Given the description of an element on the screen output the (x, y) to click on. 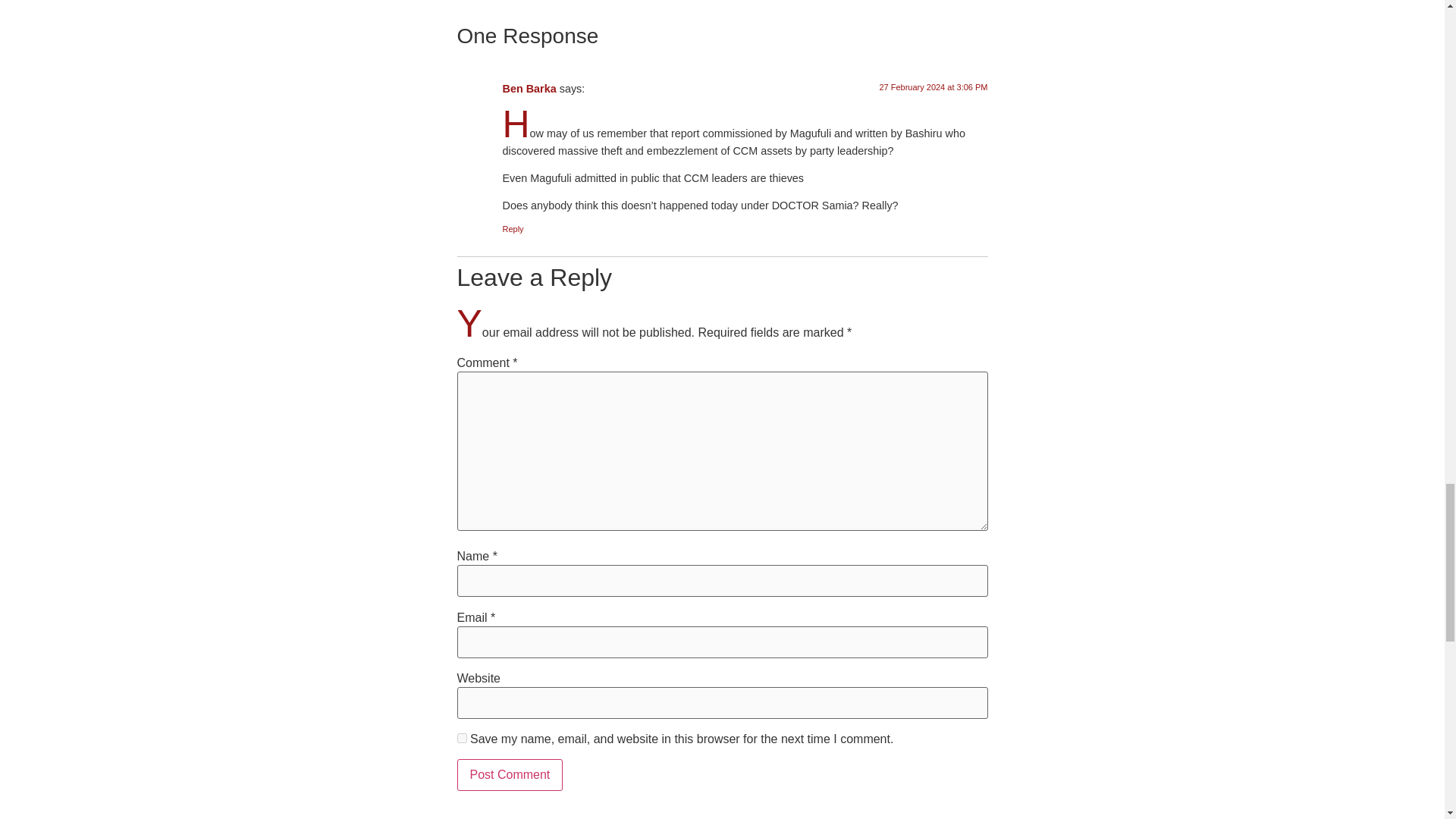
Post Comment (509, 775)
yes (461, 737)
